Given the description of an element on the screen output the (x, y) to click on. 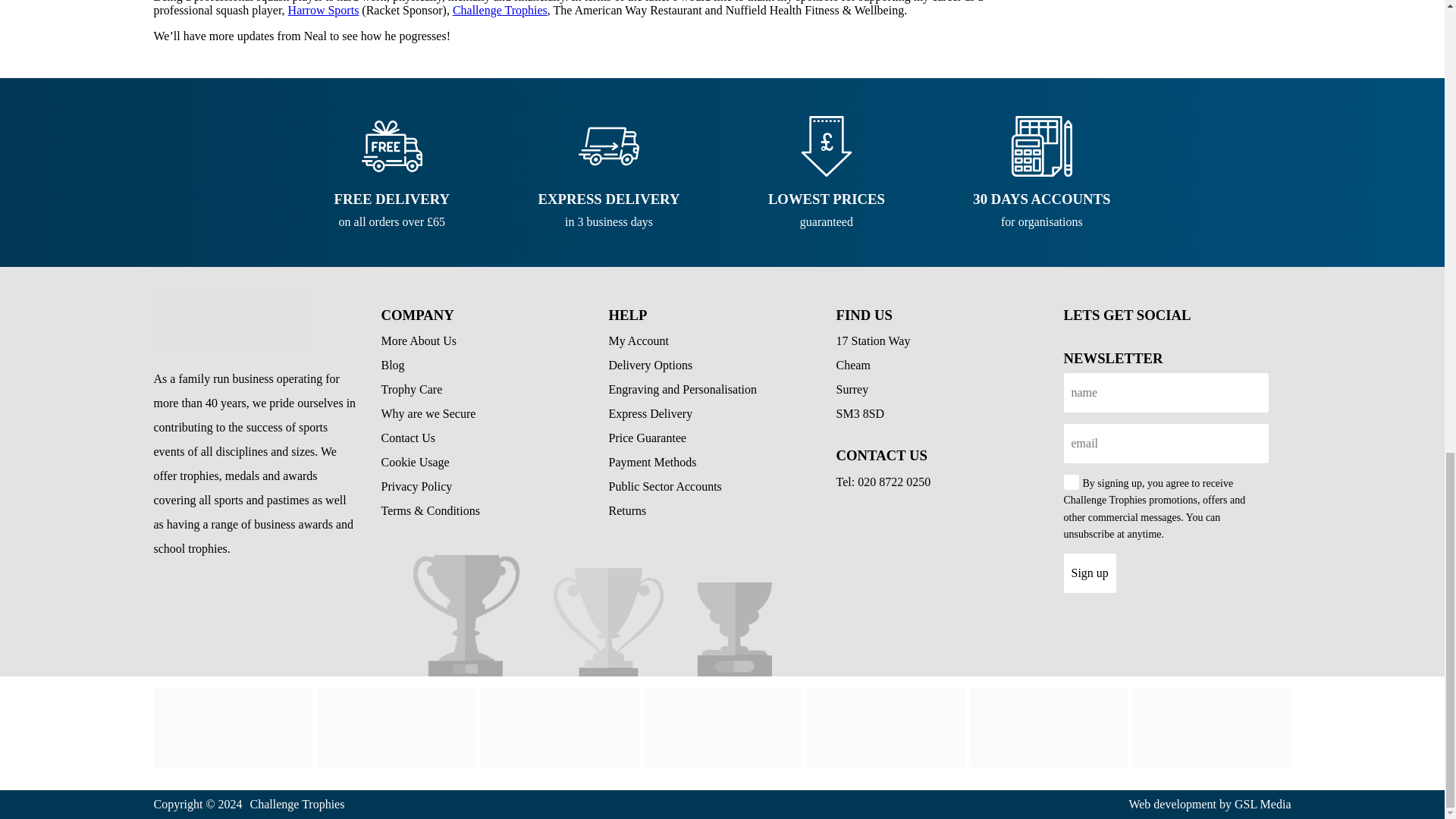
Sign up (1088, 572)
Neal Brooker's Story So Far (722, 727)
Neal Brooker's Story So Far (559, 727)
Harrow Sports (323, 10)
Harrow Sports (323, 10)
Neal Brooker's Story So Far (232, 727)
Neal Brooker's Story So Far (396, 727)
Neal Brooker's Story So Far (1210, 727)
Payment Methods (884, 727)
Challenge Trophies (499, 10)
Neal Brooker's Story So Far (1048, 727)
Challenge Trophies (499, 10)
Neal Brooker's Story So Far (230, 320)
